Given the description of an element on the screen output the (x, y) to click on. 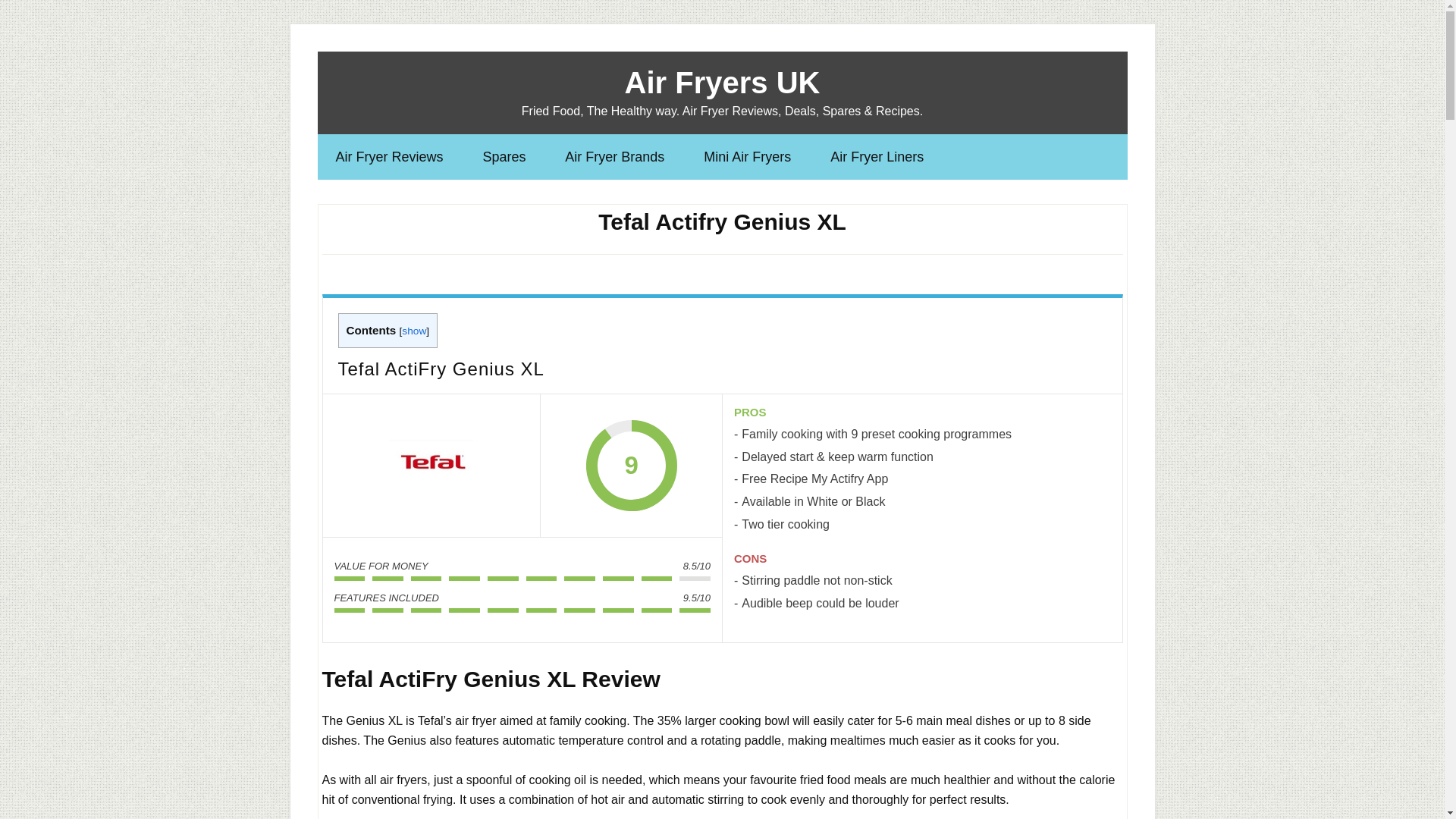
Air Fryers UK (722, 82)
show (413, 330)
Air Fryer Brands (614, 156)
Spares (503, 156)
Air Fryer Reviews (389, 156)
Air Fryer Liners (877, 156)
Mini Air Fryers (747, 156)
Tefal ActiFry Genius XL (430, 465)
